Given the description of an element on the screen output the (x, y) to click on. 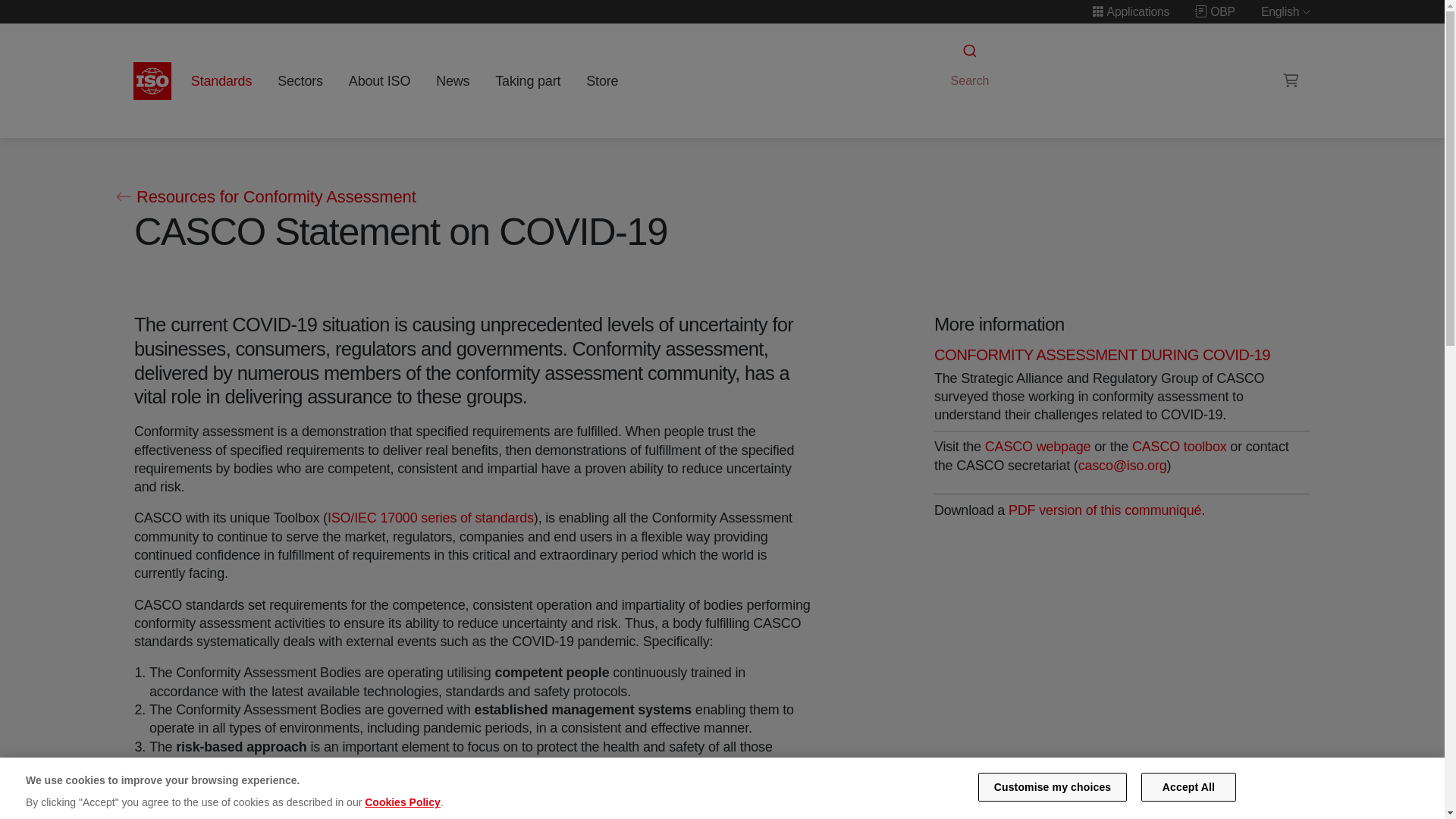
Resources for Conformity Assessment (264, 197)
ISO's applications portal (1130, 11)
CONFORMITY ASSESSMENT TOOLS TO SUPPORT PUBLIC POLICY (1179, 446)
 Applications (1130, 11)
Standards (220, 80)
English (1285, 11)
Shopping cart (1290, 80)
News (452, 80)
CASCO webpage (1037, 446)
